Given the description of an element on the screen output the (x, y) to click on. 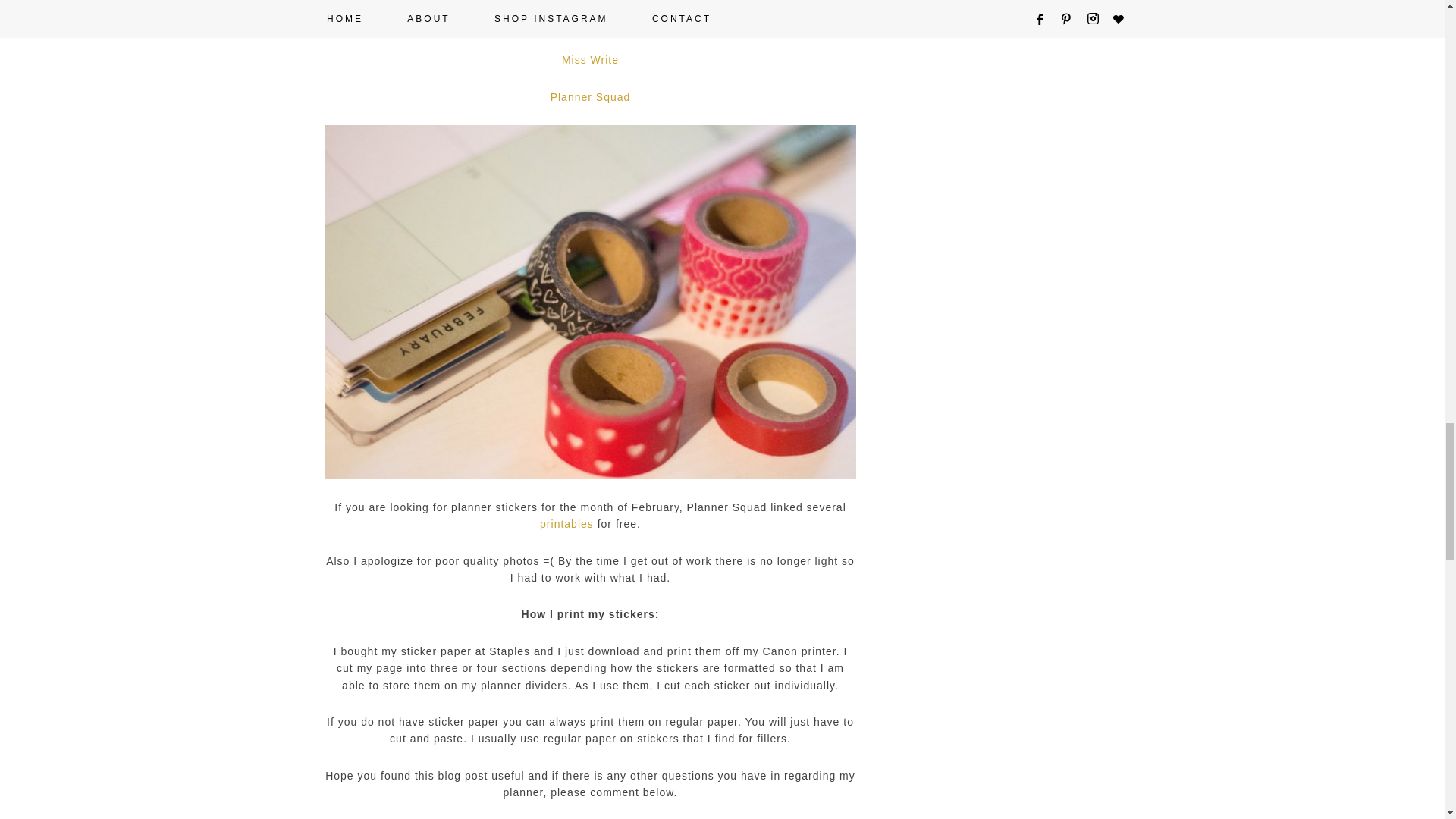
Planner Squad (590, 96)
Miss Write (590, 60)
printables (567, 523)
Life with Mayra (589, 23)
